Given the description of an element on the screen output the (x, y) to click on. 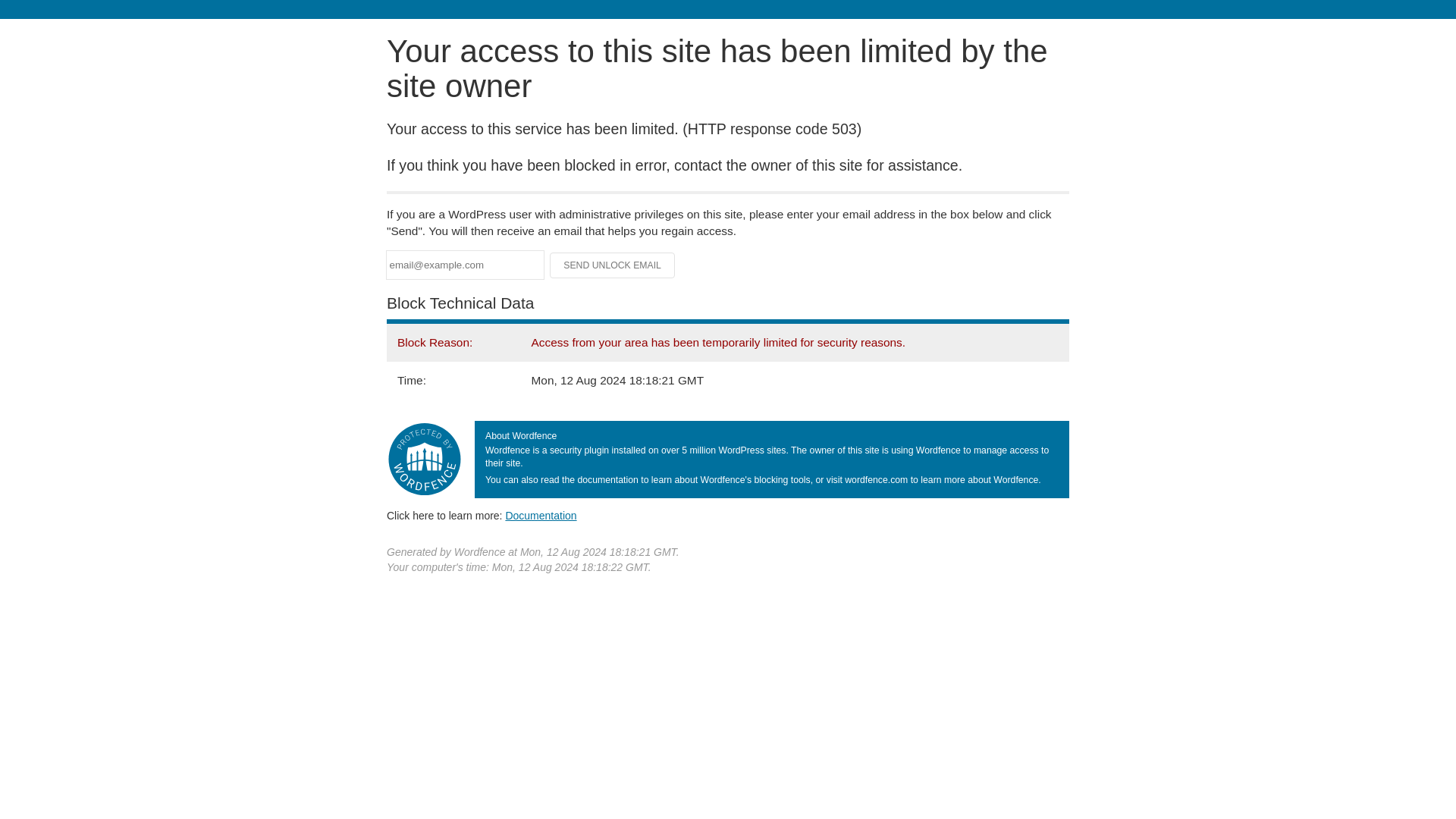
Documentation (540, 515)
Send Unlock Email (612, 265)
Send Unlock Email (612, 265)
